Given the description of an element on the screen output the (x, y) to click on. 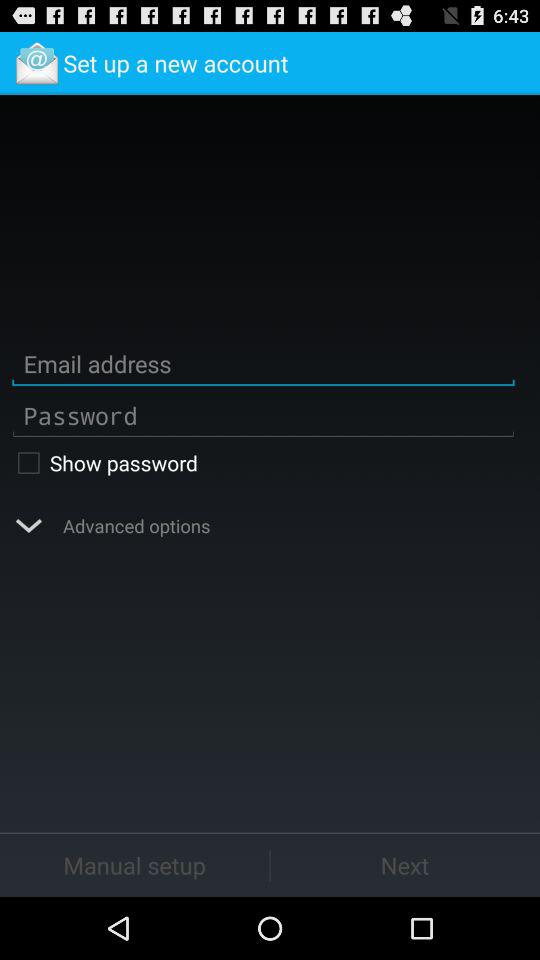
enter password (263, 415)
